Given the description of an element on the screen output the (x, y) to click on. 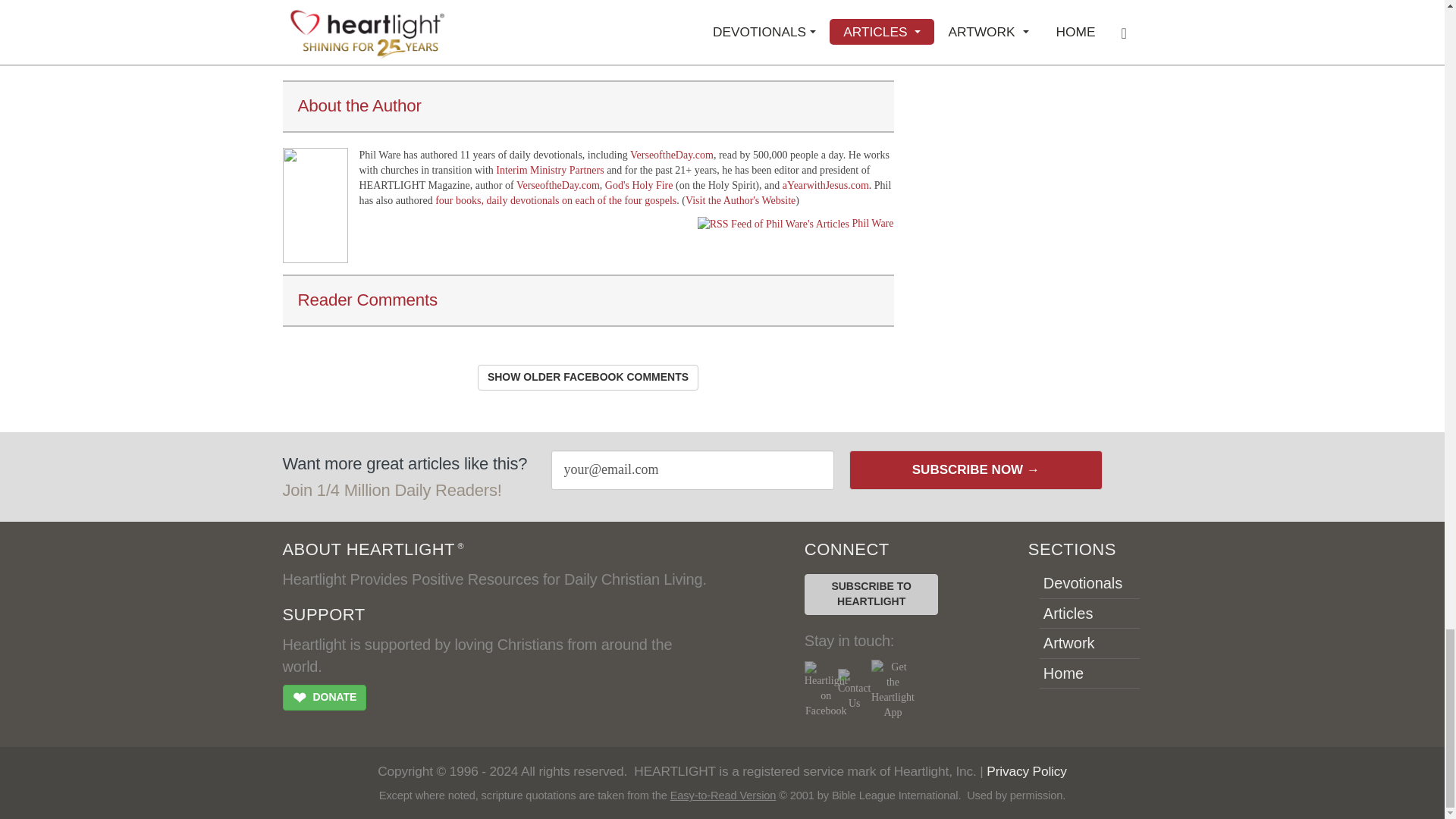
Heartlight on Facebook (826, 689)
Contact Us (854, 690)
RSS Feed of Phil Ware's Articles (772, 224)
Get the Heartlight App (892, 690)
RSS Feed of Phil Ware's Articles (872, 223)
